Given the description of an element on the screen output the (x, y) to click on. 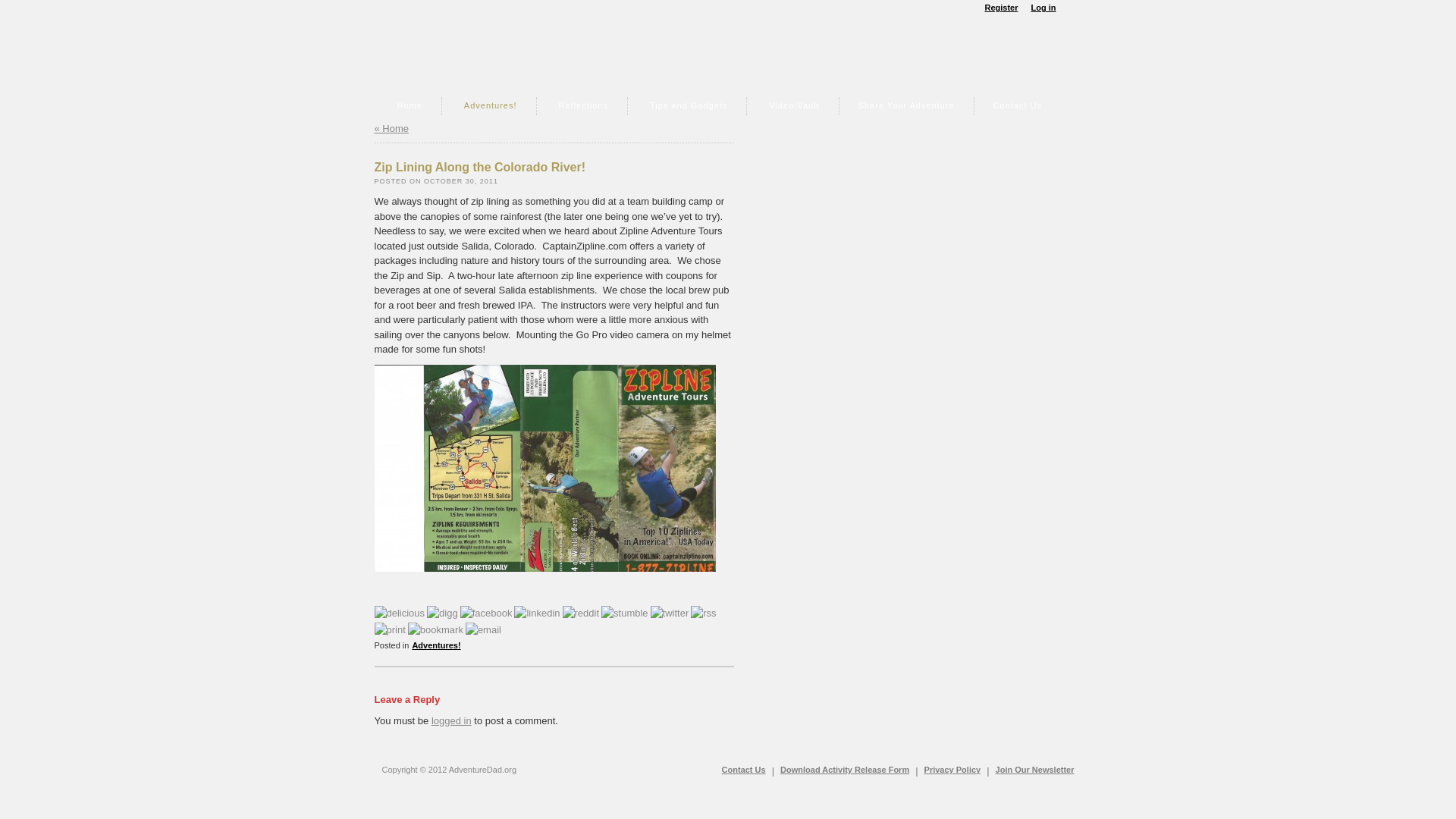
Adventures! (439, 644)
Privacy Policy (952, 769)
Share Your Adventure (907, 106)
Tips and Gadgets (687, 106)
Digg this post : Zip Lining Along the Colorado River! (442, 613)
Join Our Newsletter (1034, 769)
Reflections (583, 106)
